Given the description of an element on the screen output the (x, y) to click on. 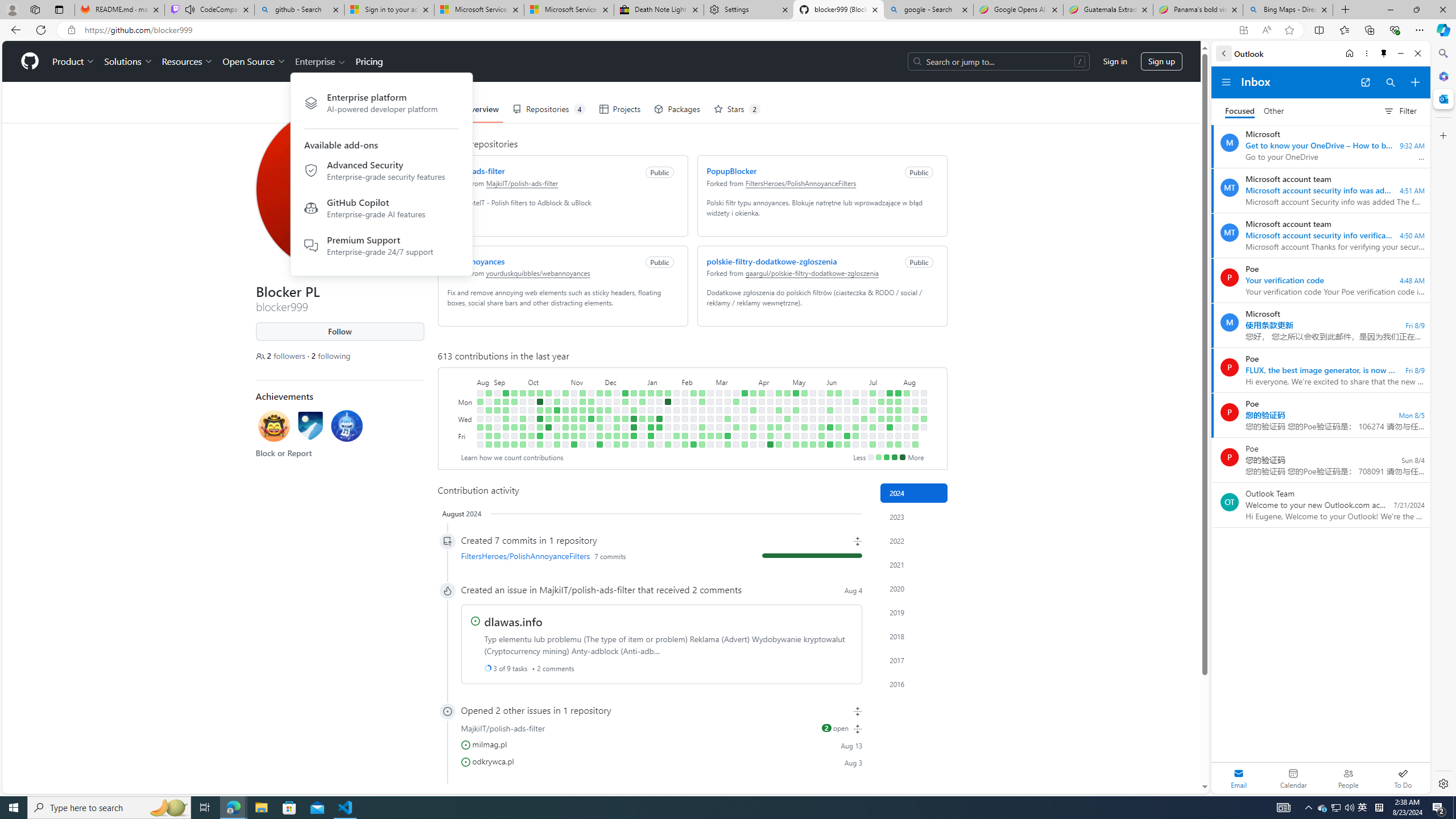
Home (1348, 53)
No contributions on April 17th. (770, 418)
2 contributions on June 28th. (855, 435)
February (697, 380)
No contributions on December 11th. (616, 401)
Contribution activity in 2022 (913, 540)
5 contributions on November 17th. (582, 435)
Solutions (128, 60)
April (774, 380)
4 contributions on January 14th. (658, 392)
Settings (1442, 783)
2024 (913, 492)
2022 (913, 540)
No contributions on September 15th. (505, 435)
webannoyances (475, 260)
